Given the description of an element on the screen output the (x, y) to click on. 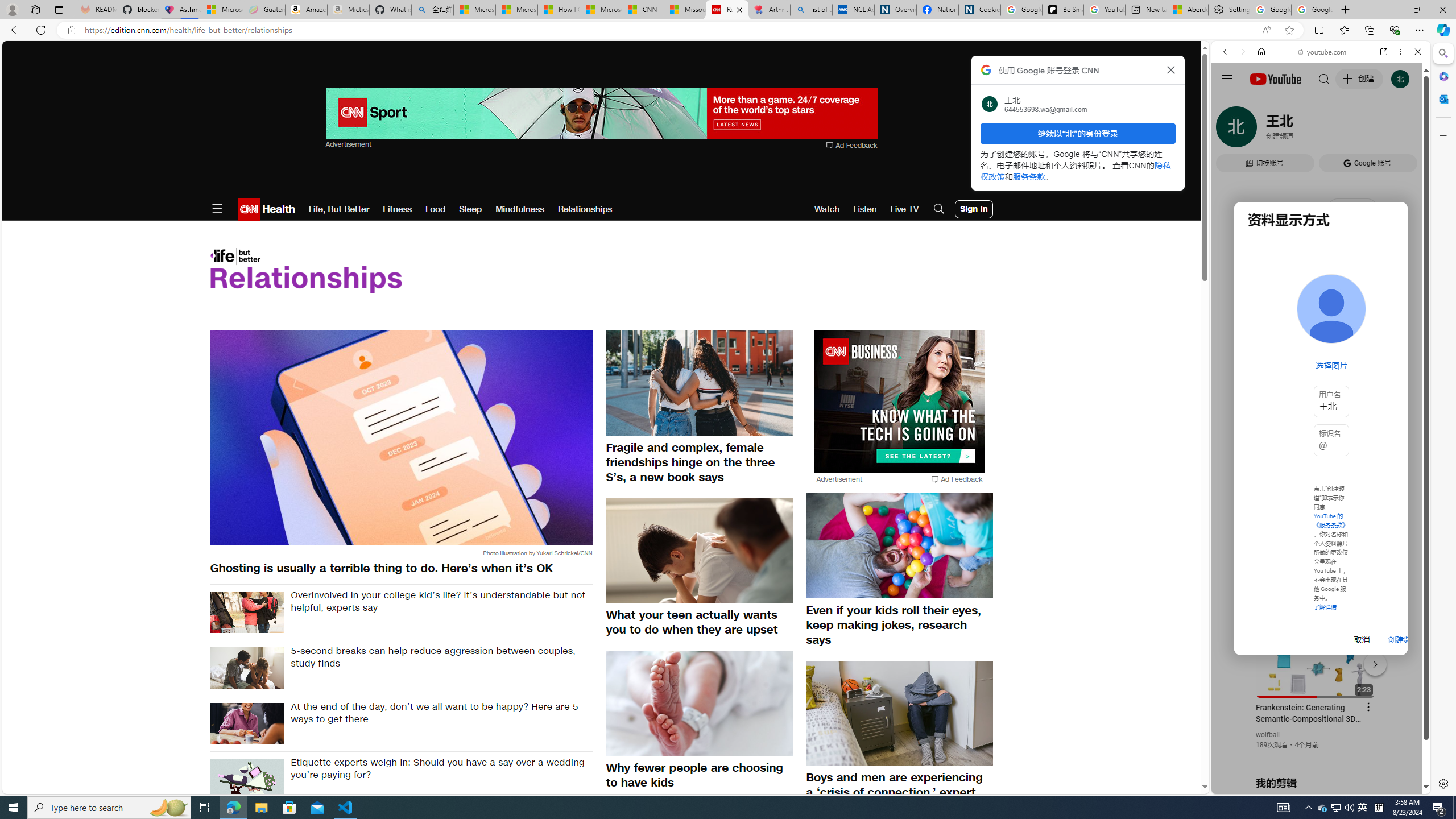
Food (435, 209)
you (1315, 755)
Watch (826, 208)
NCL Adult Asthma Inhaler Choice Guideline (853, 9)
list of asthma inhalers uk - Search (810, 9)
